Given the description of an element on the screen output the (x, y) to click on. 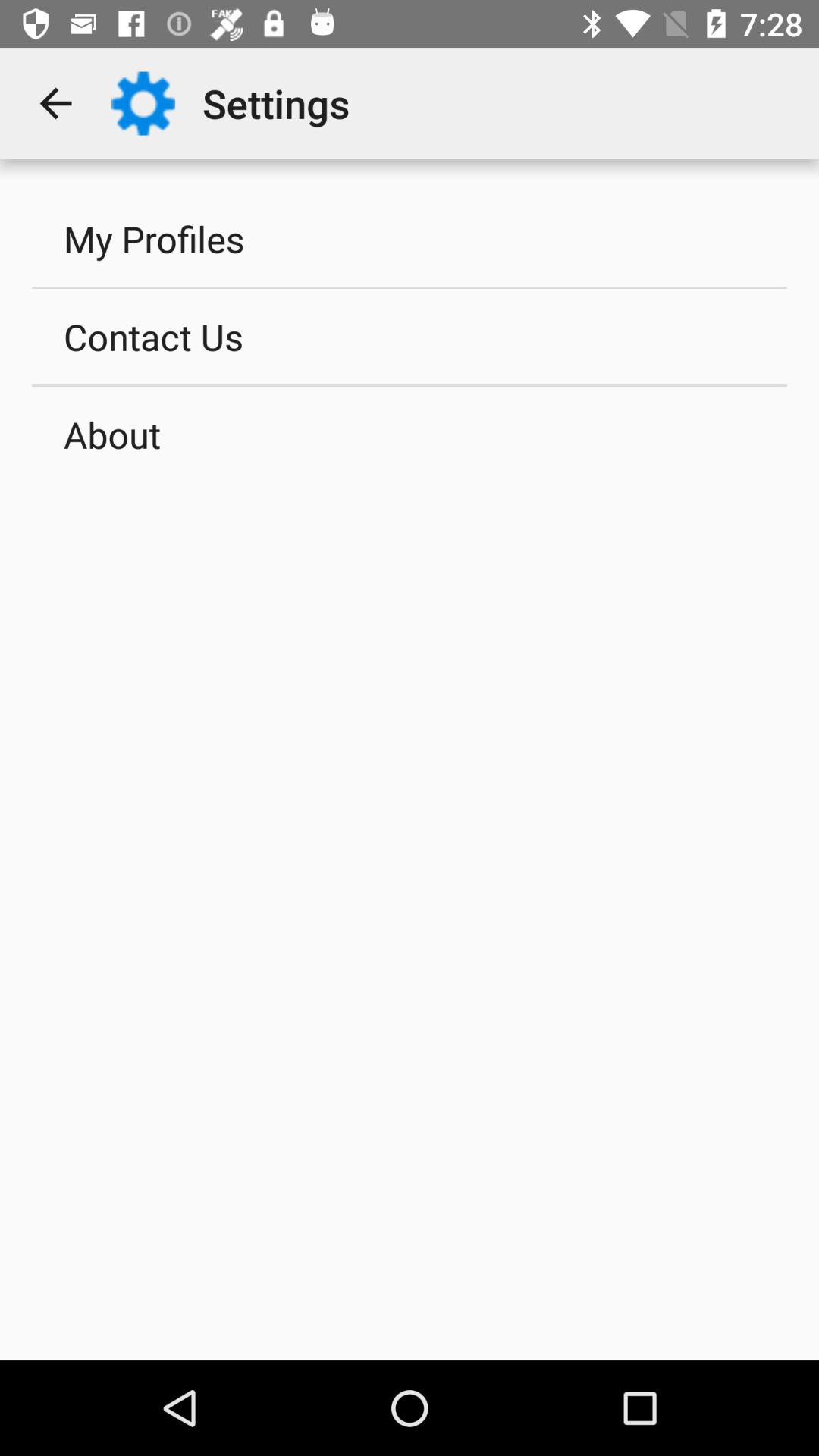
click the contact us (409, 336)
